Given the description of an element on the screen output the (x, y) to click on. 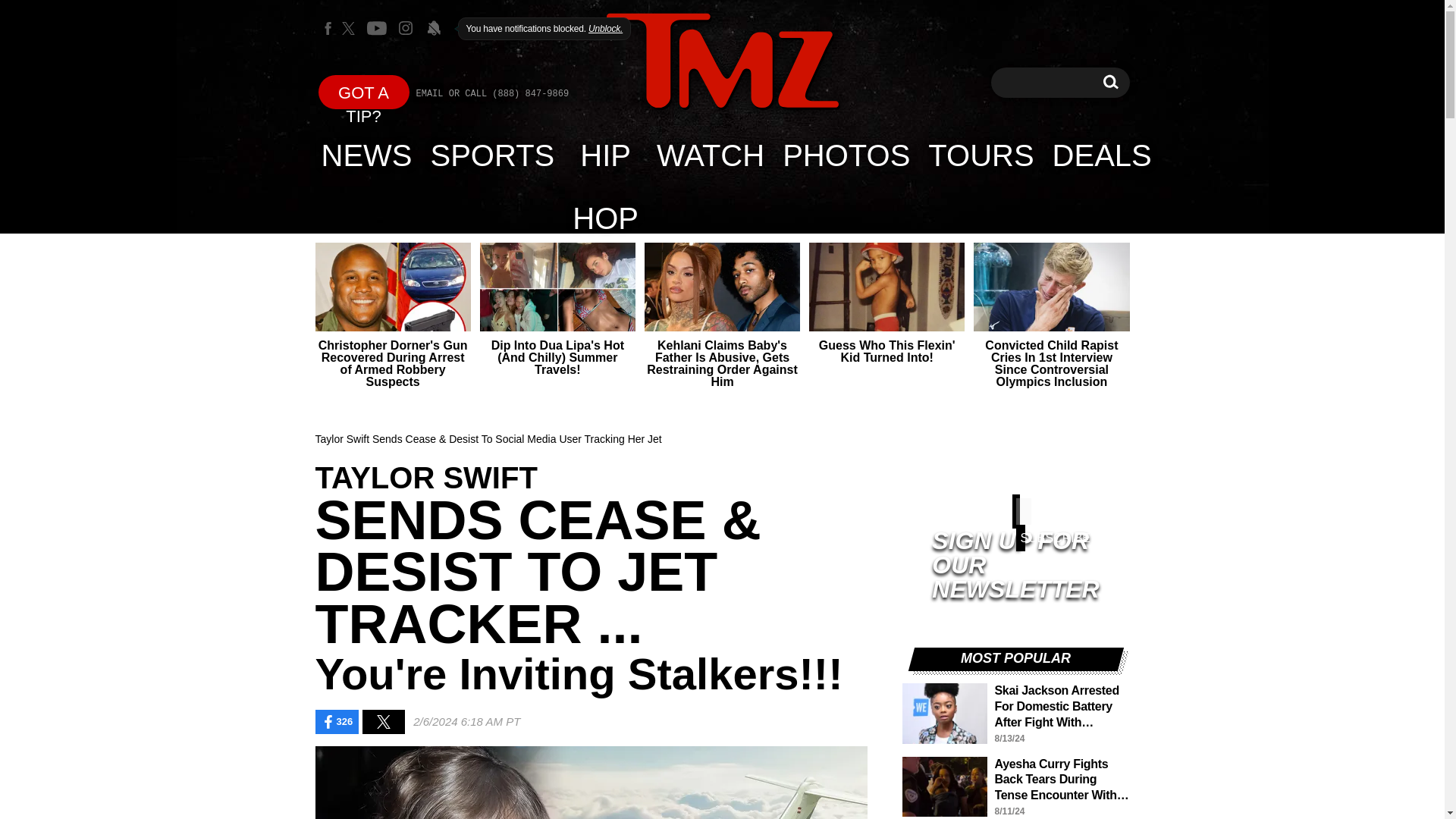
TOURS (980, 154)
GOT A TIP? (363, 91)
PHOTOS (845, 154)
NEWS (1110, 82)
TMZ (367, 154)
Search (722, 62)
DEALS (1110, 81)
HIP HOP (1101, 154)
WATCH (605, 154)
